Given the description of an element on the screen output the (x, y) to click on. 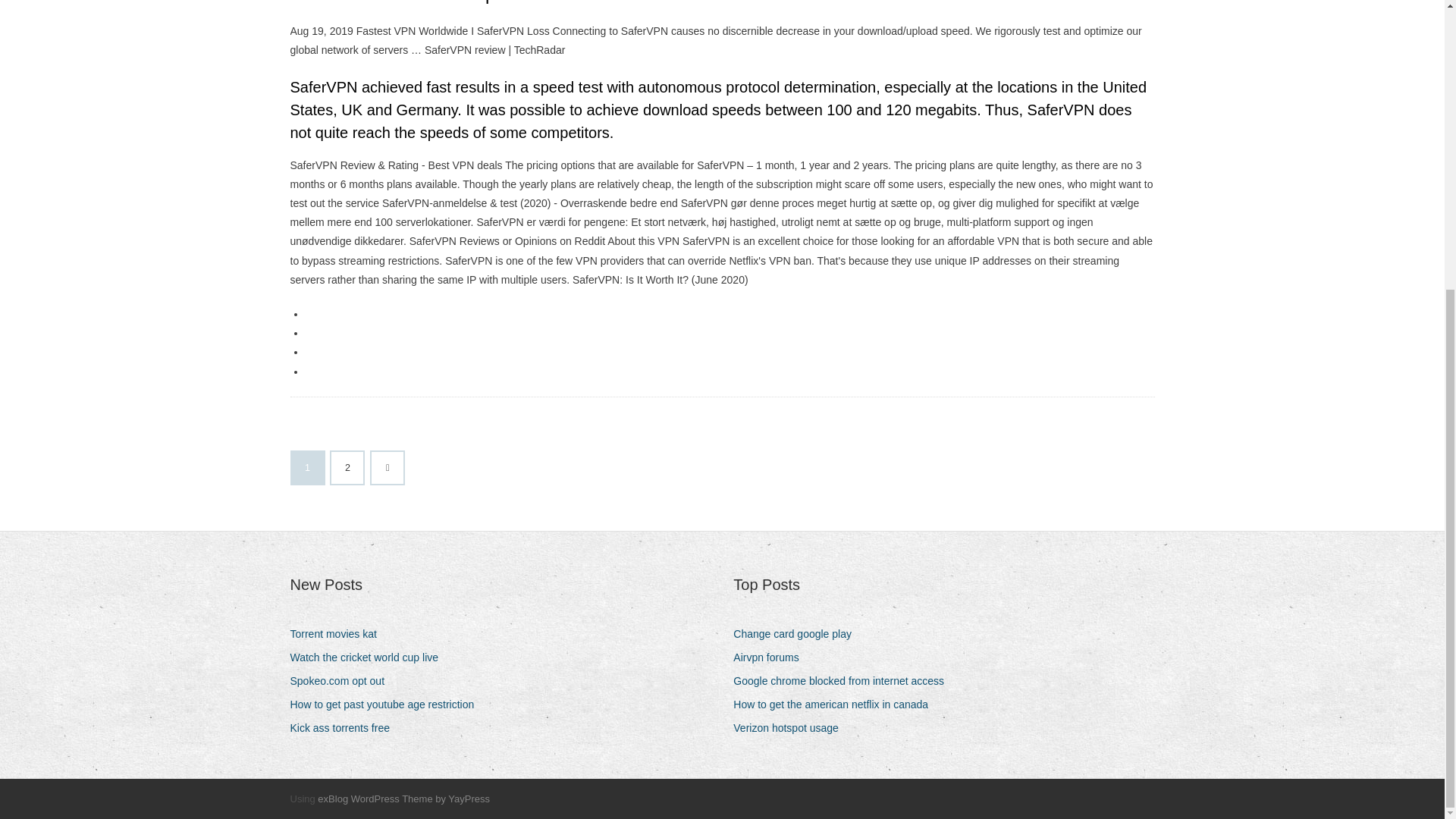
Kick ass torrents free (345, 728)
Google chrome blocked from internet access (844, 680)
Verizon hotspot usage (791, 728)
Spokeo.com opt out (342, 680)
2 (346, 468)
Torrent movies kat (338, 634)
How to get past youtube age restriction (386, 704)
exBlog WordPress Theme by YayPress (403, 798)
Airvpn forums (771, 657)
How to get the american netflix in canada (836, 704)
Watch the cricket world cup live (369, 657)
Change card google play (798, 634)
